Given the description of an element on the screen output the (x, y) to click on. 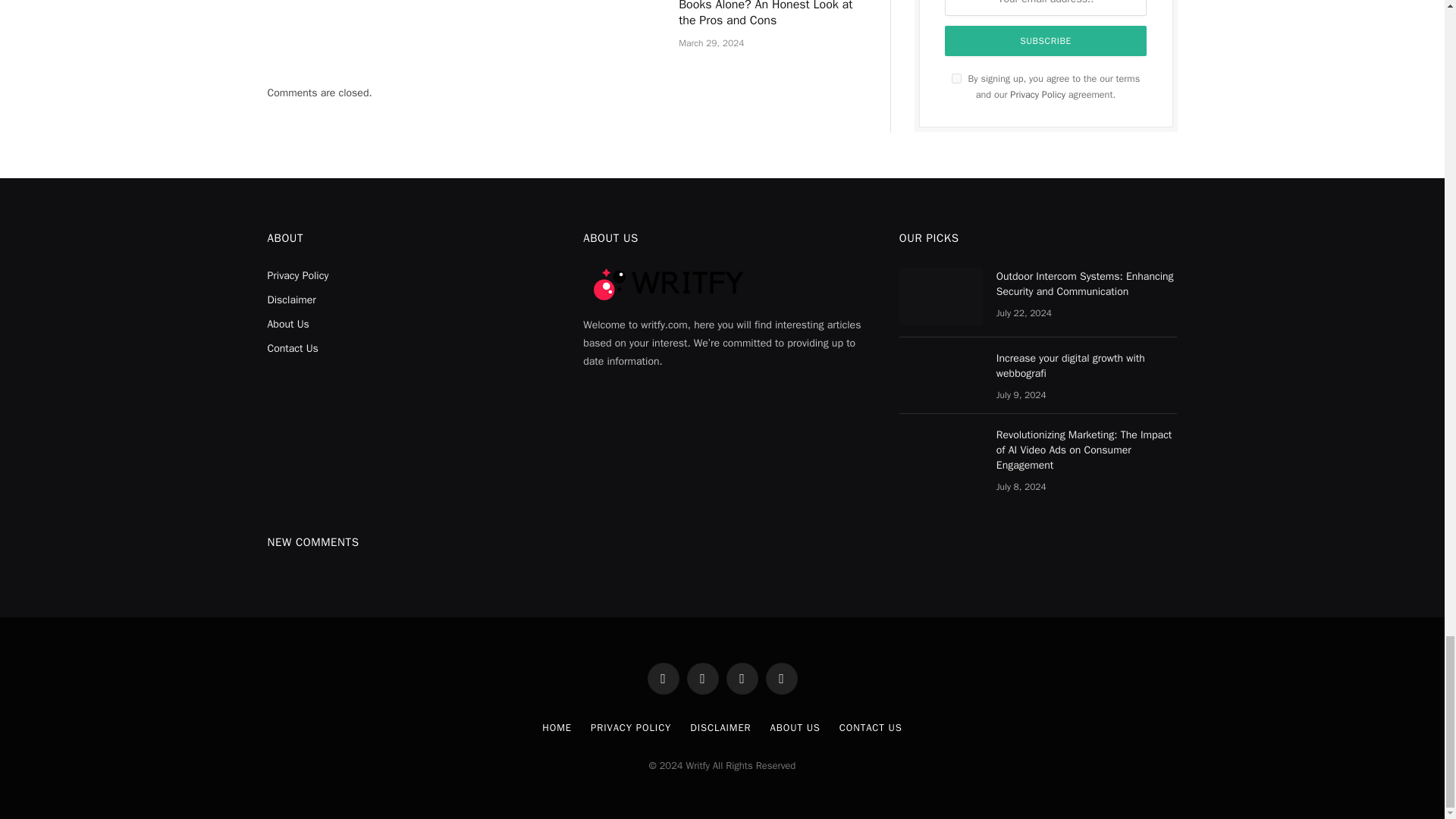
on (956, 78)
Subscribe (1045, 40)
